Given the description of an element on the screen output the (x, y) to click on. 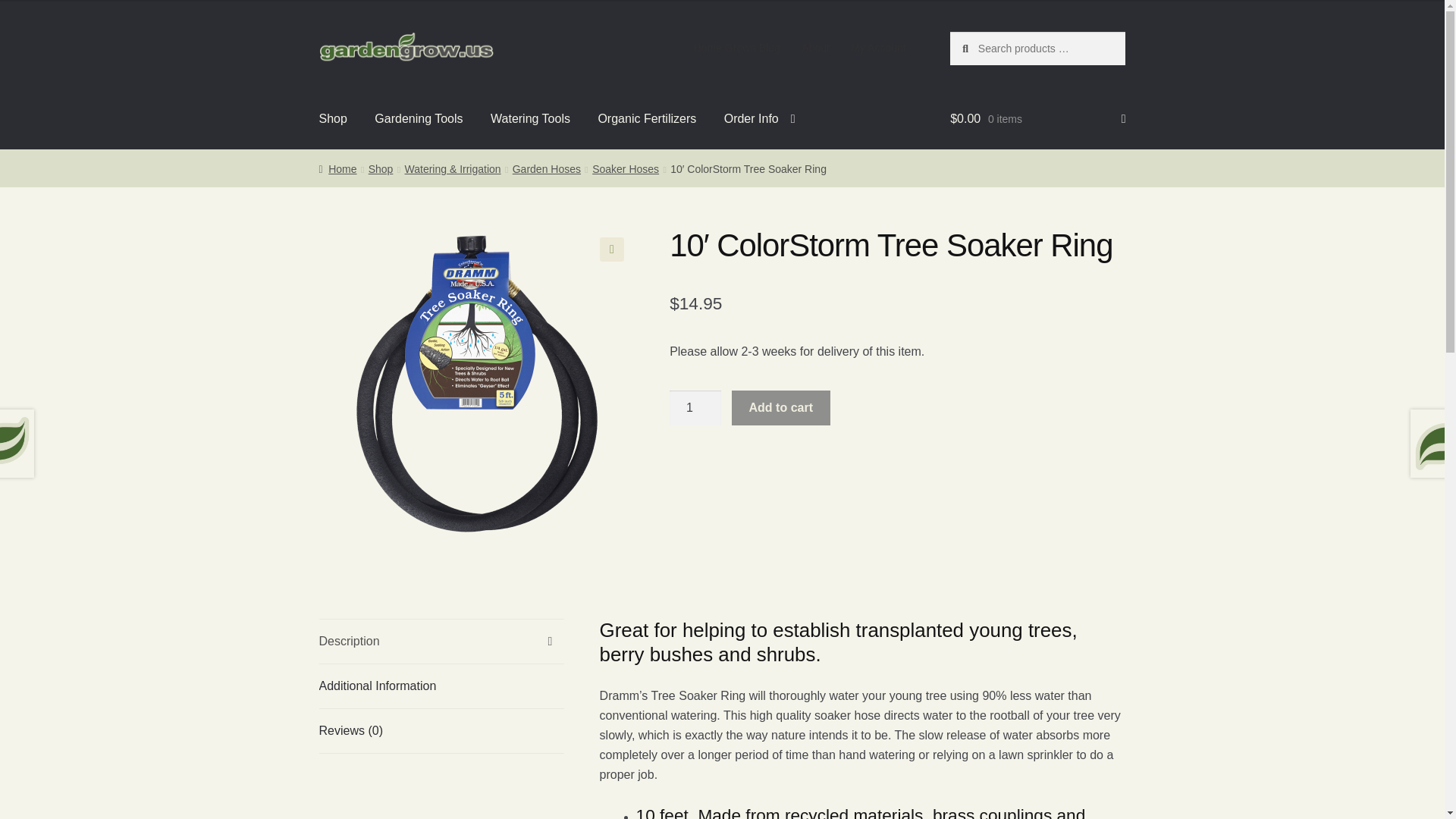
My Account (878, 47)
Organic Fertilizers (646, 118)
About (815, 47)
1 (694, 407)
Soaker Hoses (625, 168)
Order Info (759, 118)
10 foot Tree Soaker Ring 17053 (476, 384)
View your shopping cart (1037, 118)
Home (337, 168)
Garden Hoses (546, 168)
Watering Tools (530, 118)
Shop (380, 168)
Gardening Tools (418, 118)
Home Grown Blog (736, 47)
